Given the description of an element on the screen output the (x, y) to click on. 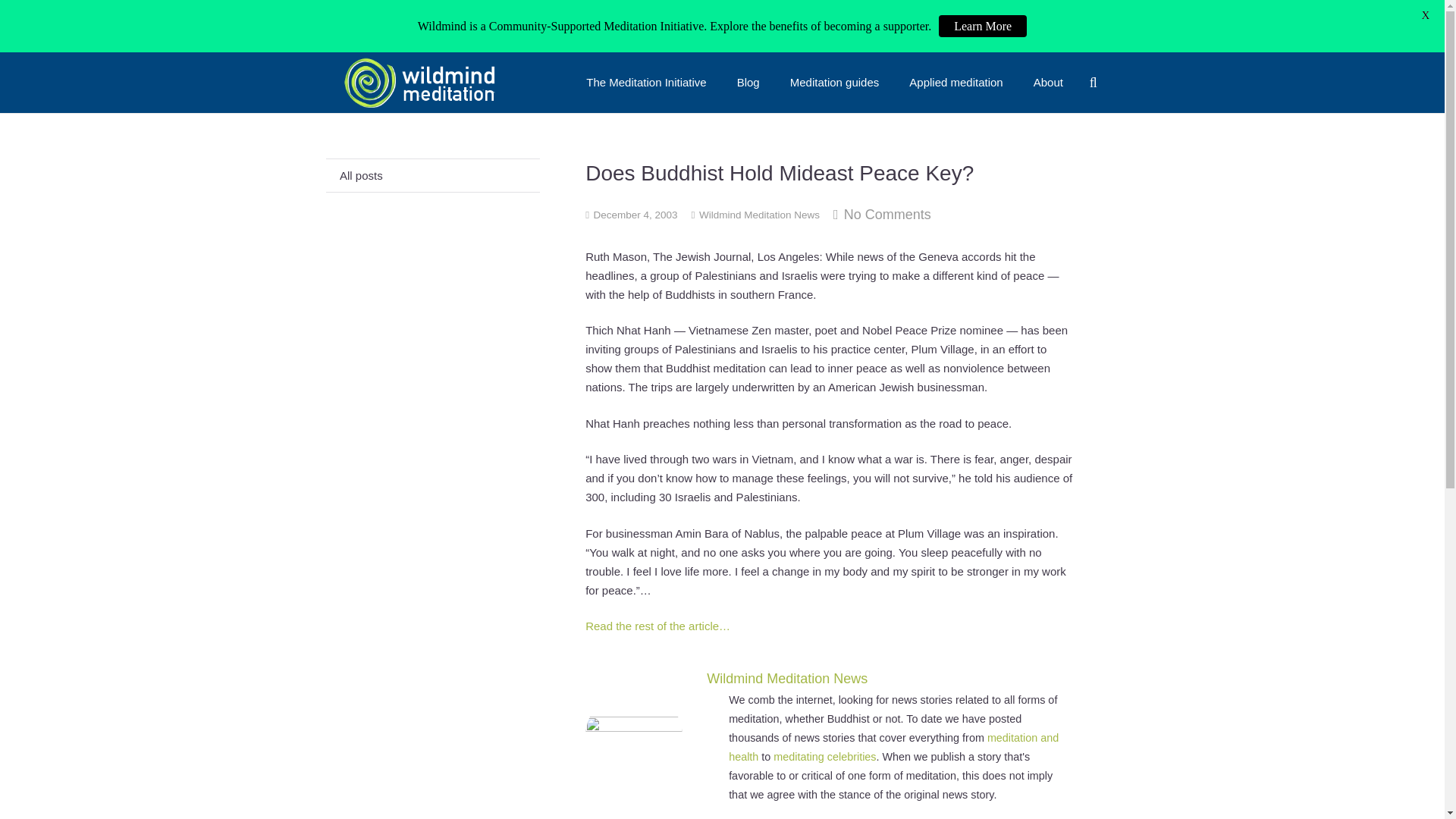
Blog (748, 82)
Meditation guides (834, 82)
No Comments (887, 214)
All posts (433, 174)
The Meditation Initiative (645, 82)
